Given the description of an element on the screen output the (x, y) to click on. 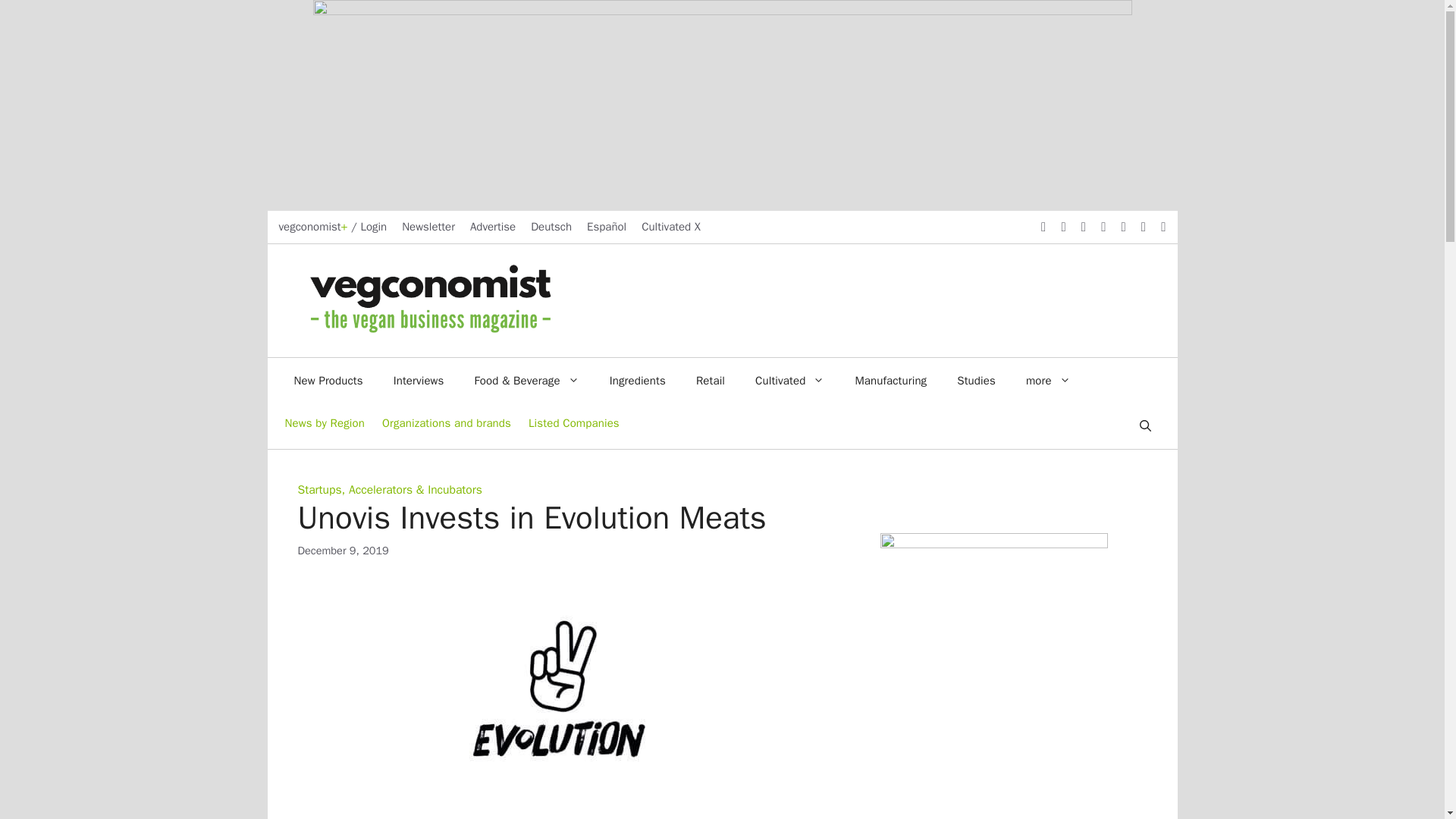
Newsletter (427, 226)
Advertise (492, 226)
Cultivated X (671, 226)
Cultivated (789, 380)
Manufacturing (891, 380)
Studies (976, 380)
New Products (328, 380)
Ingredients (637, 380)
Interviews (419, 380)
more (1048, 380)
